Given the description of an element on the screen output the (x, y) to click on. 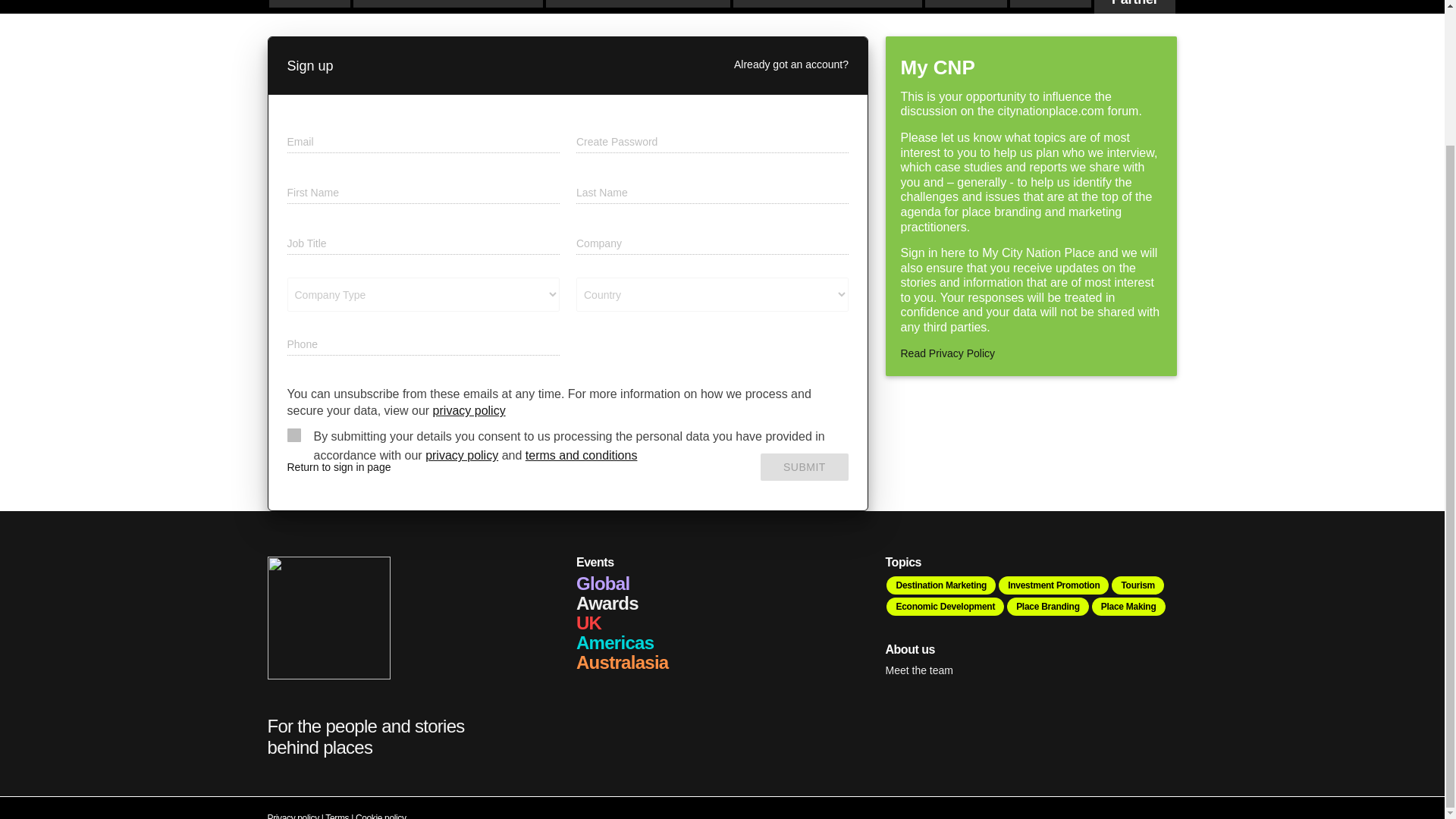
Home (308, 3)
Experts (1050, 3)
Become A Partner (1134, 6)
Advisory Group (965, 3)
